Given the description of an element on the screen output the (x, y) to click on. 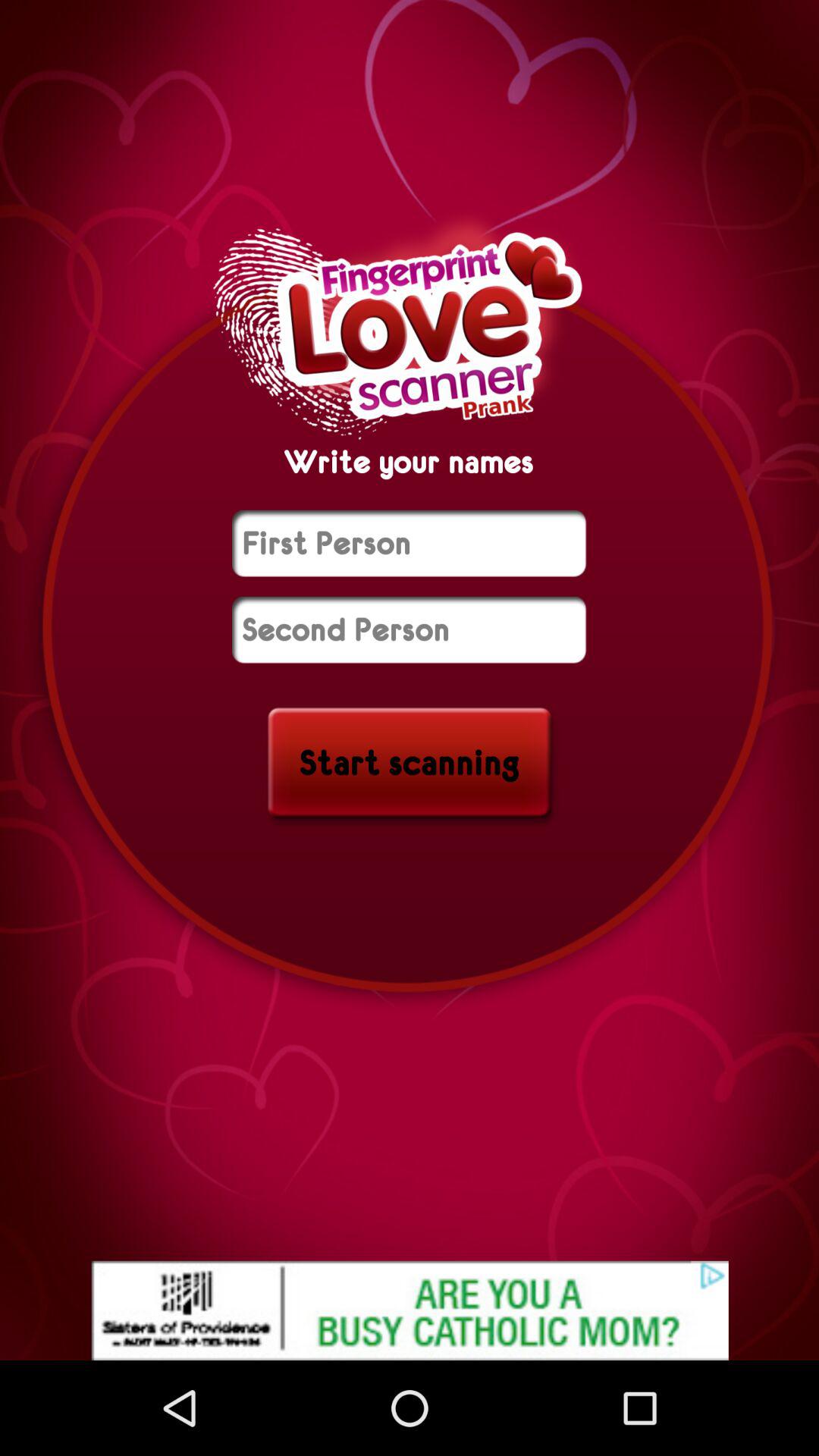
sister of providence advertisement (409, 1310)
